Given the description of an element on the screen output the (x, y) to click on. 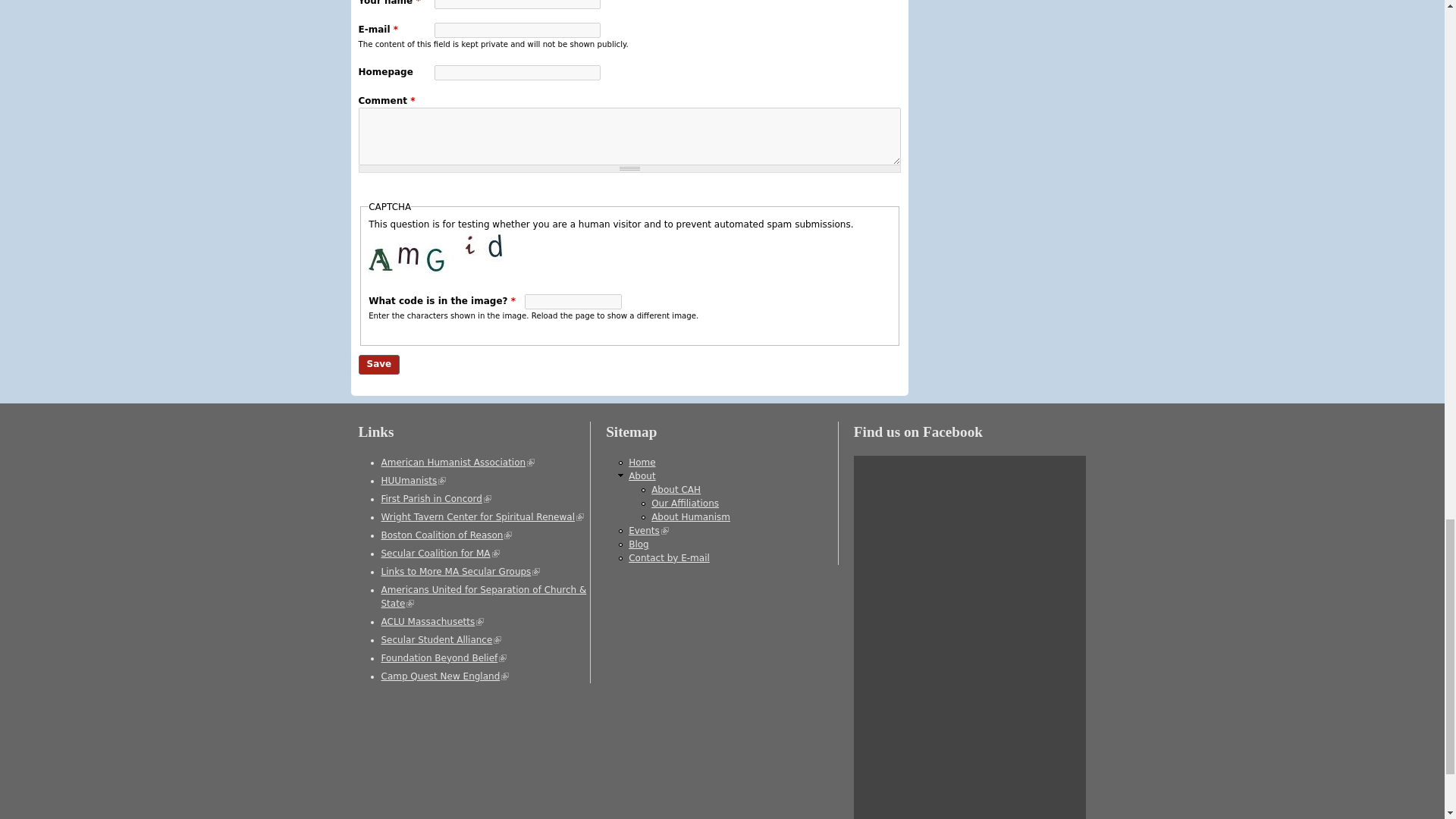
Save (378, 364)
Image CAPTCHA (436, 253)
Save (378, 364)
